Given the description of an element on the screen output the (x, y) to click on. 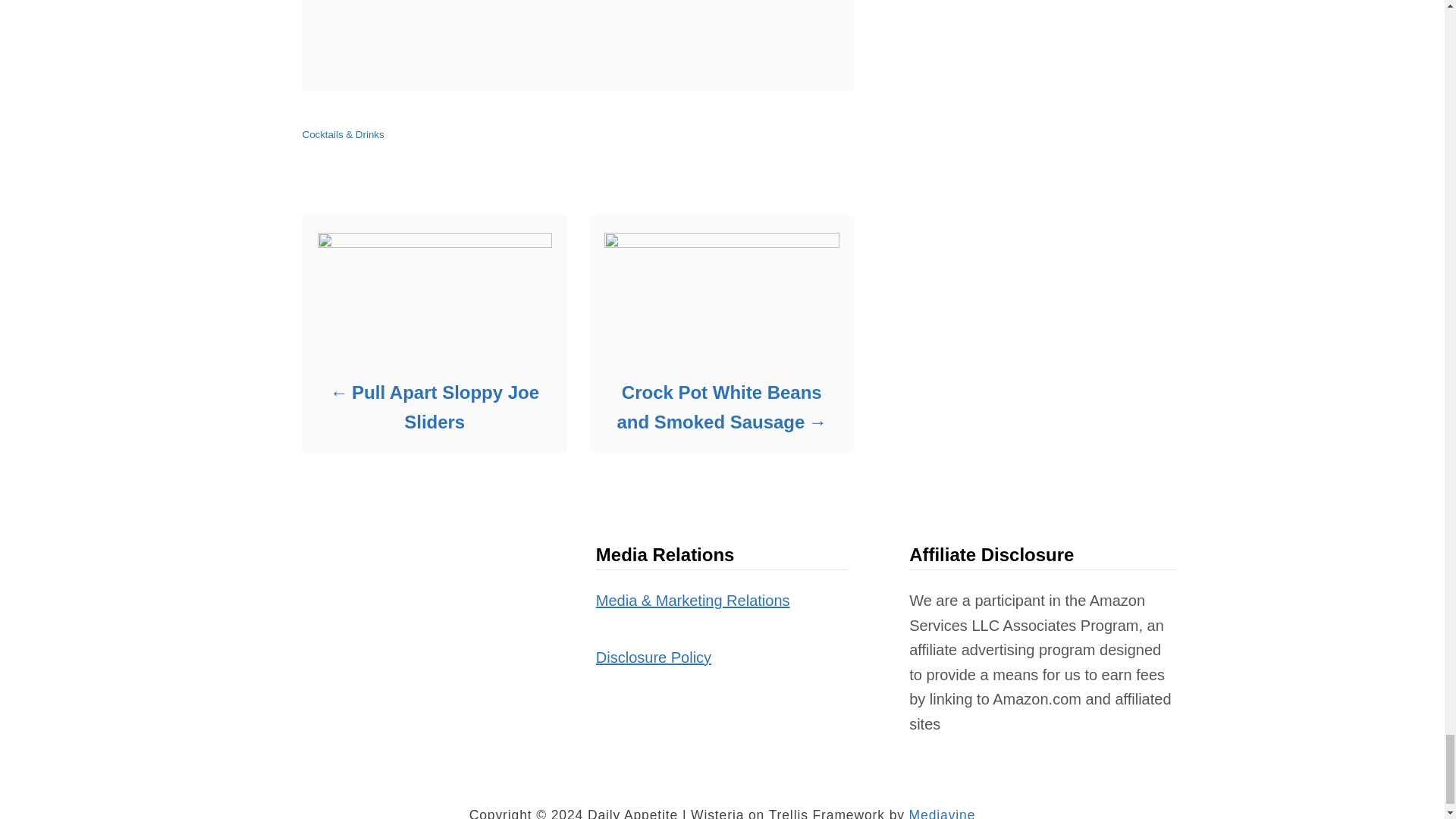
Disclosure Policy (653, 657)
Crock Pot White Beans and Smoked Sausage (721, 406)
Pull Apart Sloppy Joe Sliders (434, 406)
